Given the description of an element on the screen output the (x, y) to click on. 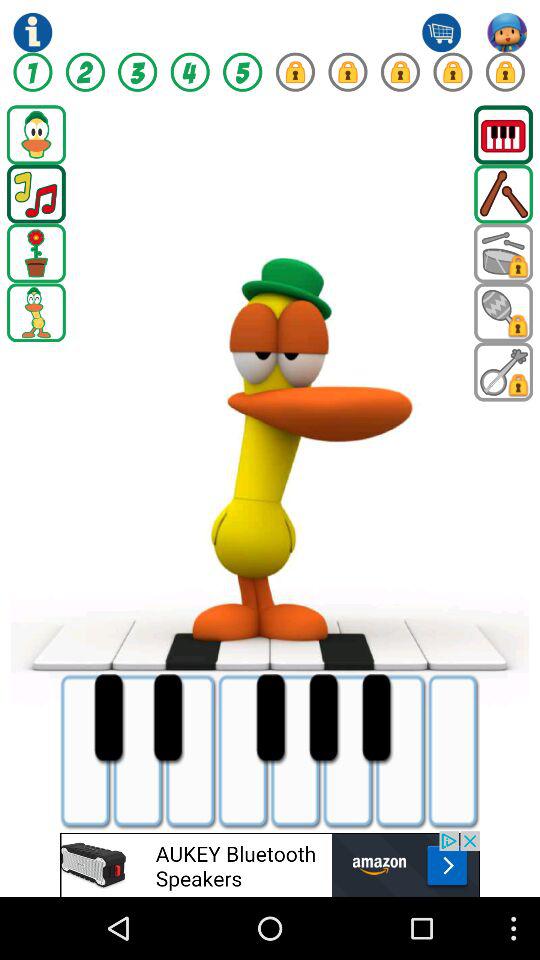
lock button (452, 71)
